Given the description of an element on the screen output the (x, y) to click on. 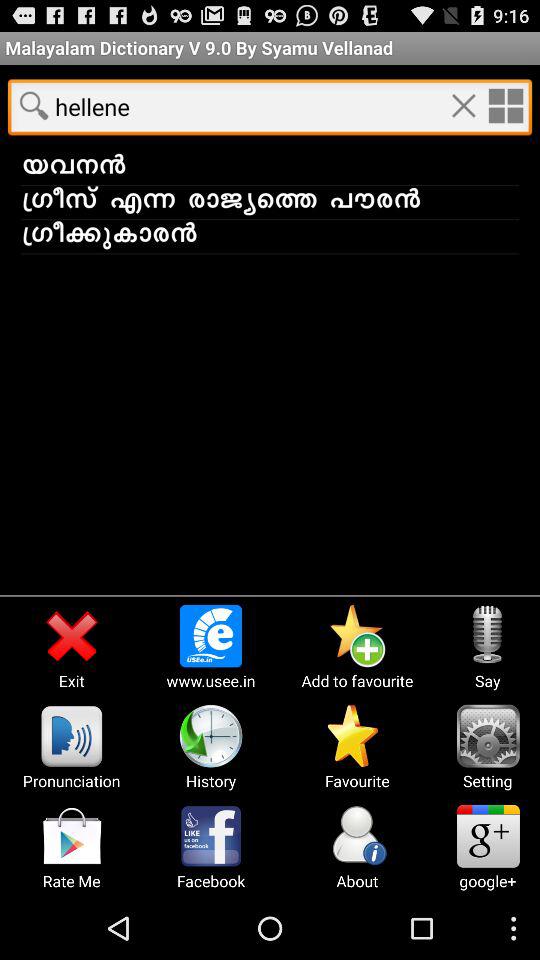
hellene (505, 105)
